Given the description of an element on the screen output the (x, y) to click on. 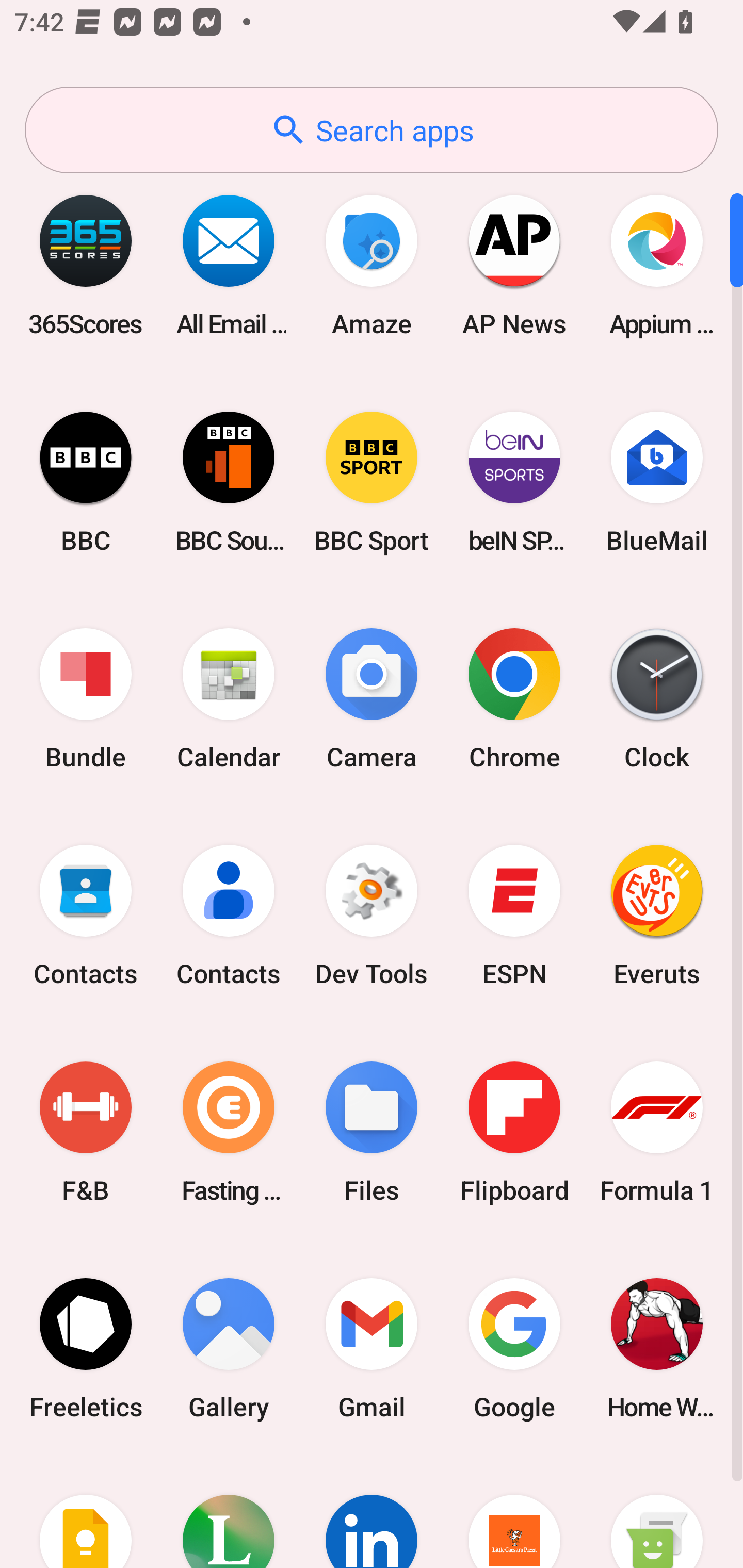
  Search apps (371, 130)
365Scores (85, 264)
All Email Connect (228, 264)
Amaze (371, 264)
AP News (514, 264)
Appium Settings (656, 264)
BBC (85, 482)
BBC Sounds (228, 482)
BBC Sport (371, 482)
beIN SPORTS (514, 482)
BlueMail (656, 482)
Bundle (85, 699)
Calendar (228, 699)
Camera (371, 699)
Chrome (514, 699)
Clock (656, 699)
Contacts (85, 915)
Contacts (228, 915)
Dev Tools (371, 915)
ESPN (514, 915)
Everuts (656, 915)
F&B (85, 1131)
Fasting Coach (228, 1131)
Files (371, 1131)
Flipboard (514, 1131)
Formula 1 (656, 1131)
Freeletics (85, 1348)
Gallery (228, 1348)
Gmail (371, 1348)
Google (514, 1348)
Home Workout (656, 1348)
